Given the description of an element on the screen output the (x, y) to click on. 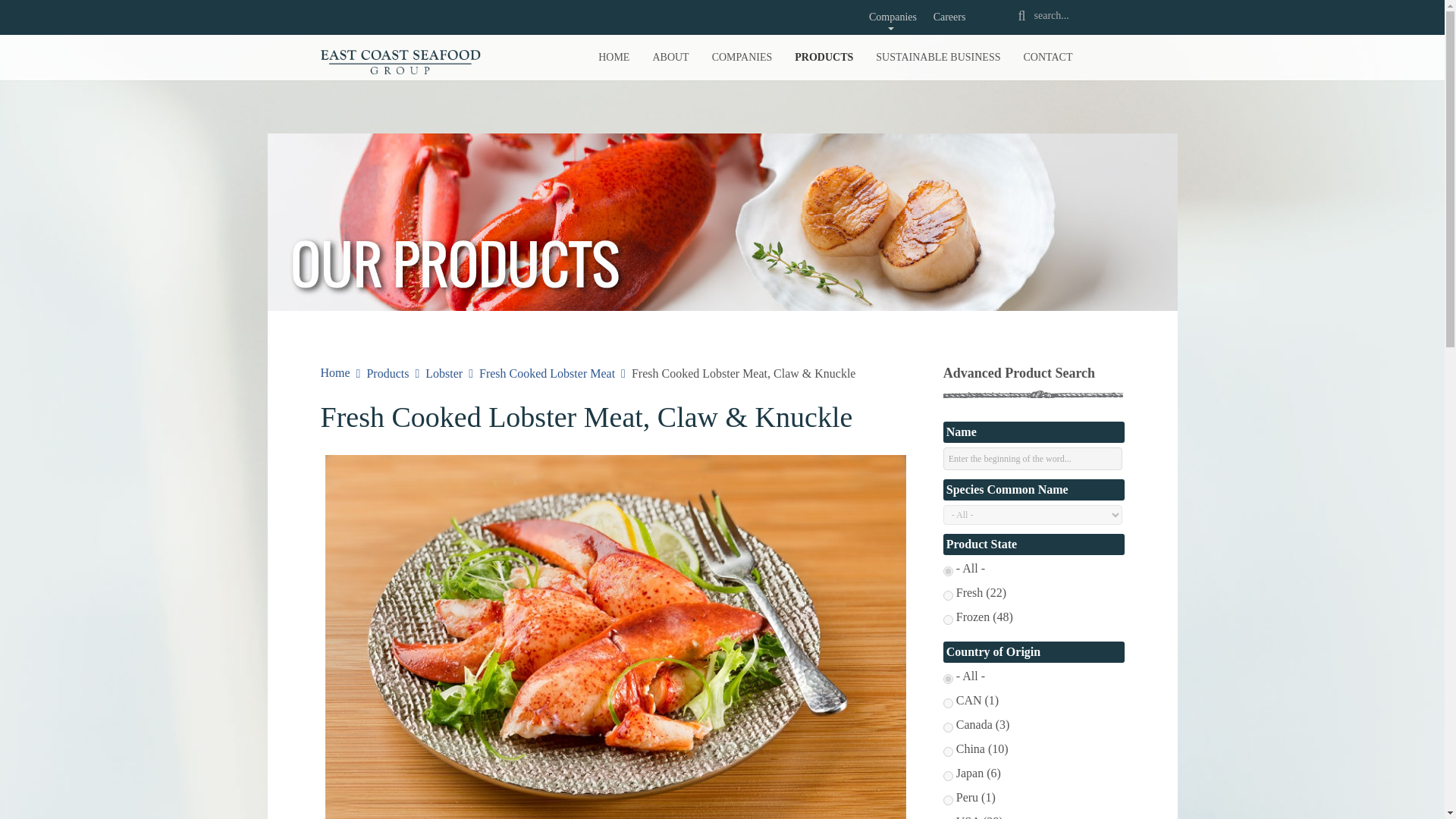
Fresh (948, 595)
COMPANIES (742, 57)
Careers (947, 20)
Lobster (444, 373)
PRODUCTS (823, 57)
Fresh Cooked Lobster Meat (546, 373)
Frozen (948, 619)
HOME (613, 57)
SUSTAINABLE BUSINESS (937, 57)
Japan (948, 776)
